Given the description of an element on the screen output the (x, y) to click on. 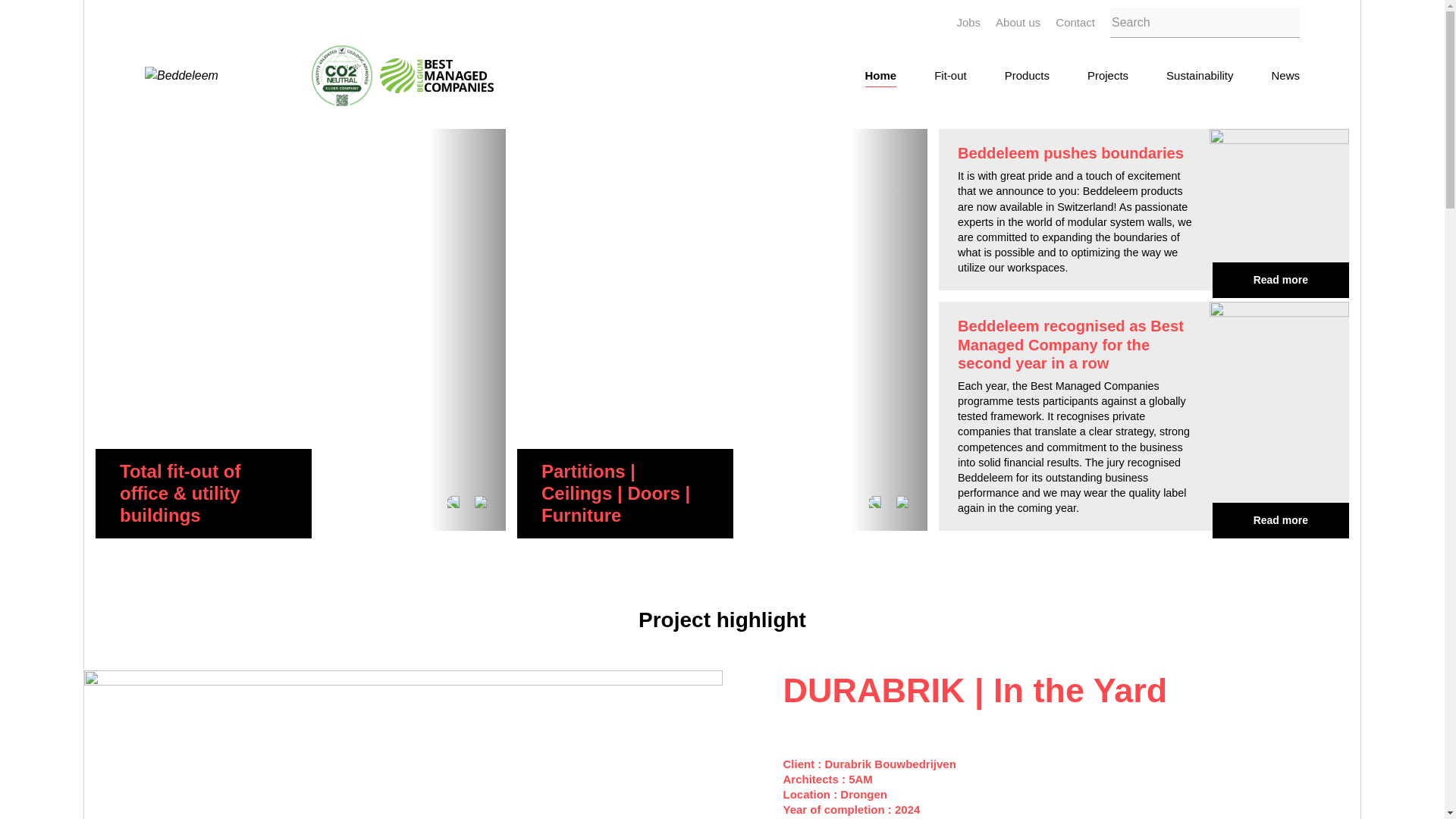
Home (880, 75)
Fit-out (950, 75)
Products (1026, 75)
